Given the description of an element on the screen output the (x, y) to click on. 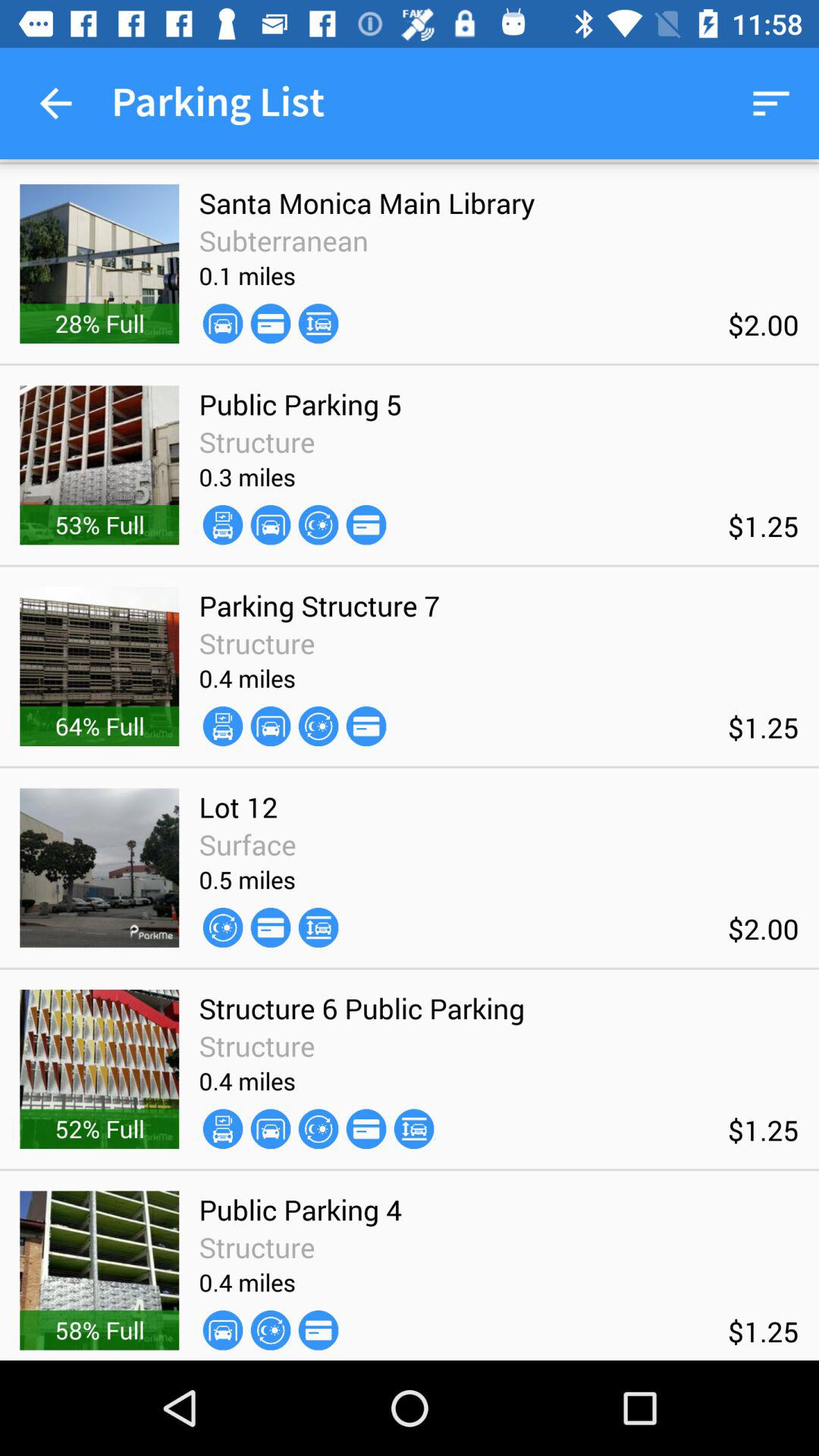
turn on icon to the left of parking list icon (55, 103)
